Given the description of an element on the screen output the (x, y) to click on. 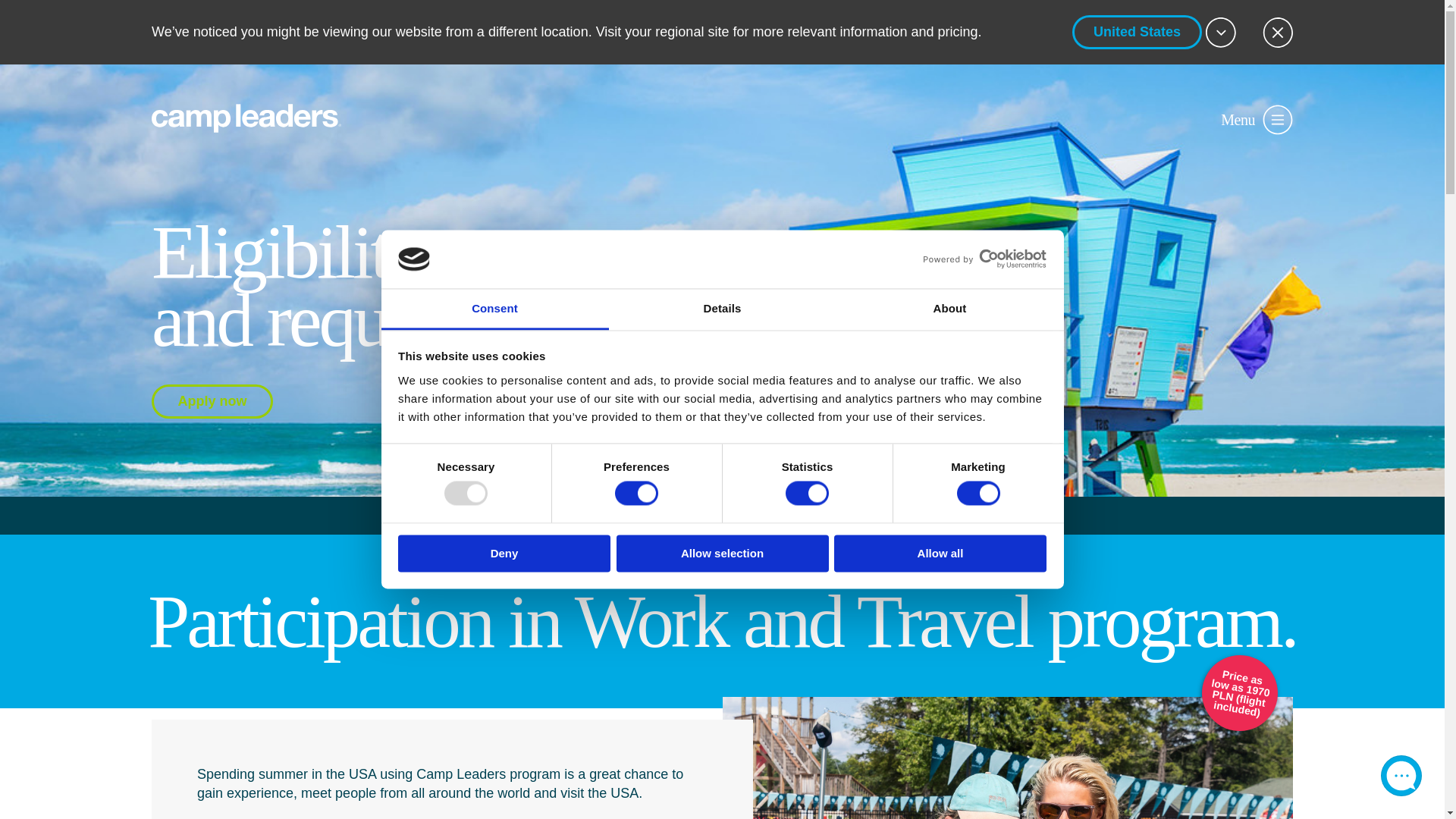
Consent (494, 309)
Details (721, 309)
About (948, 309)
